Given the description of an element on the screen output the (x, y) to click on. 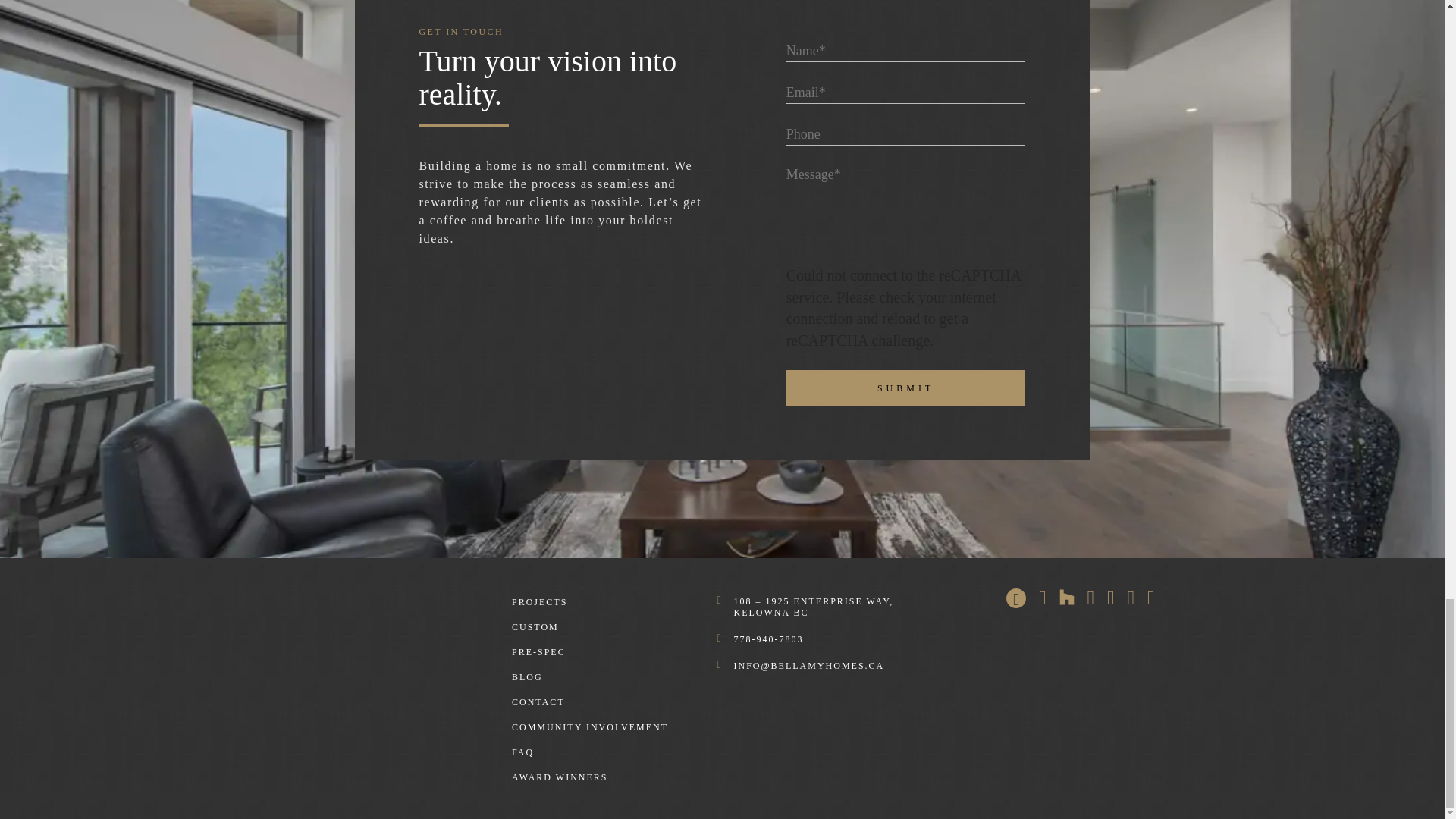
778-940-7803 (768, 638)
PROJECTS (539, 602)
CONTACT (538, 701)
Submit (906, 388)
CUSTOM (535, 626)
PRE-SPEC (539, 652)
Submit (906, 388)
AWARD WINNERS (559, 777)
FAQ (523, 751)
BLOG (527, 676)
COMMUNITY INVOLVEMENT (590, 726)
